Given the description of an element on the screen output the (x, y) to click on. 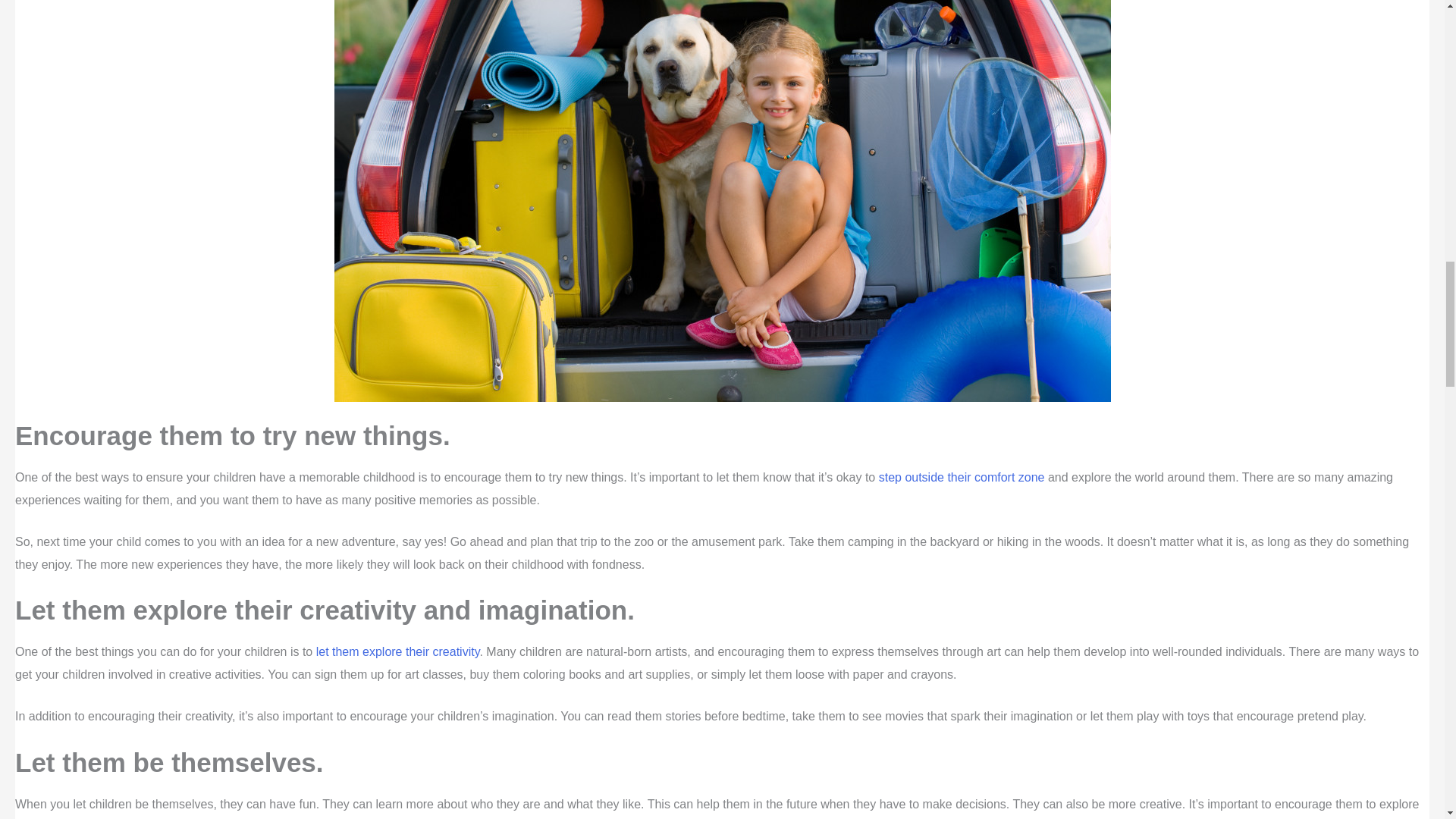
let them explore their creativity (397, 651)
step outside their comfort zone (962, 477)
